Given the description of an element on the screen output the (x, y) to click on. 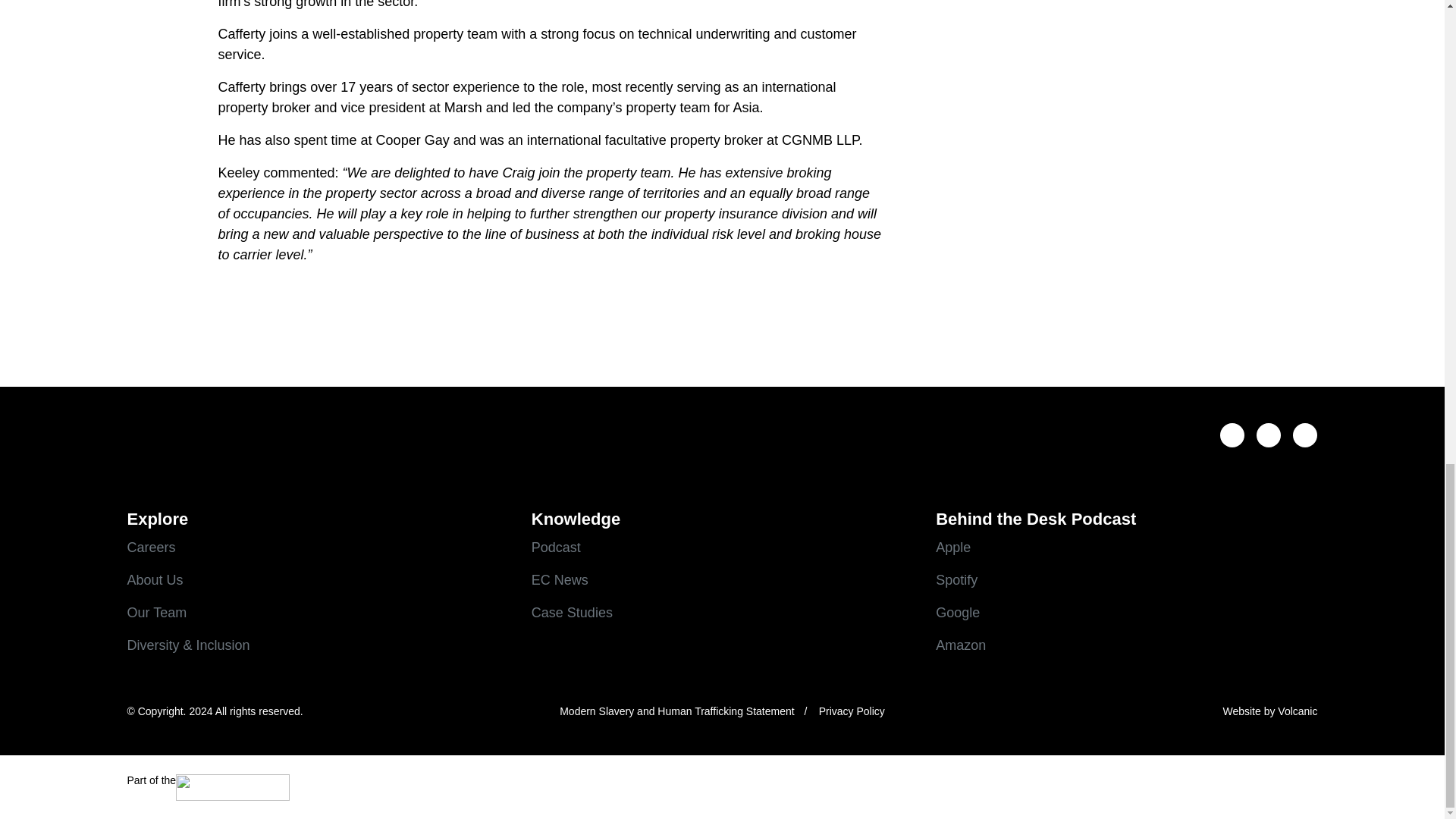
About Us (318, 580)
Podcast (721, 547)
Apple (1126, 547)
Case Studies (721, 612)
Careers (318, 547)
EC News (721, 580)
Our Team (318, 612)
Spotify (1126, 580)
